Given the description of an element on the screen output the (x, y) to click on. 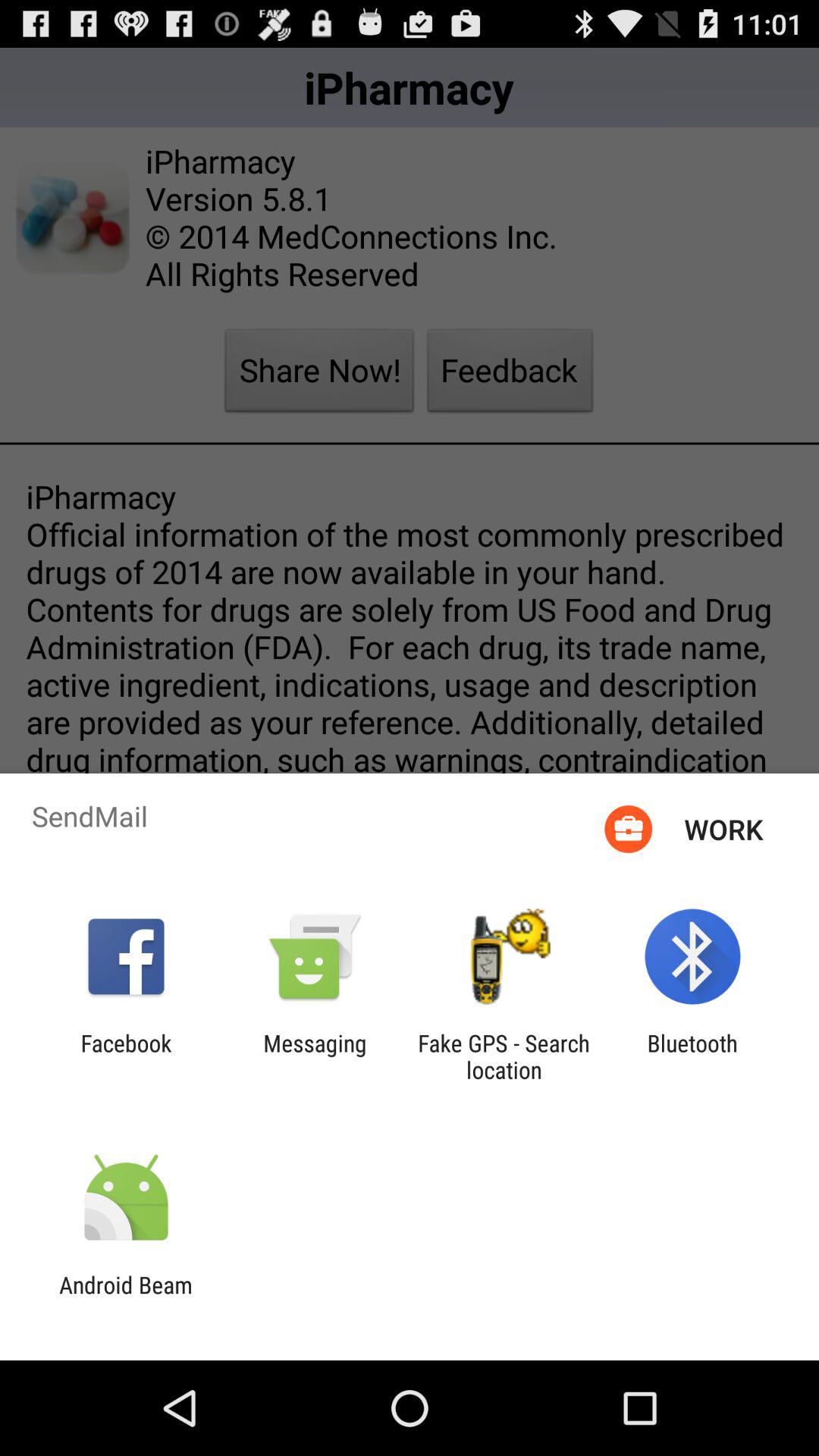
click the bluetooth at the bottom right corner (692, 1056)
